Given the description of an element on the screen output the (x, y) to click on. 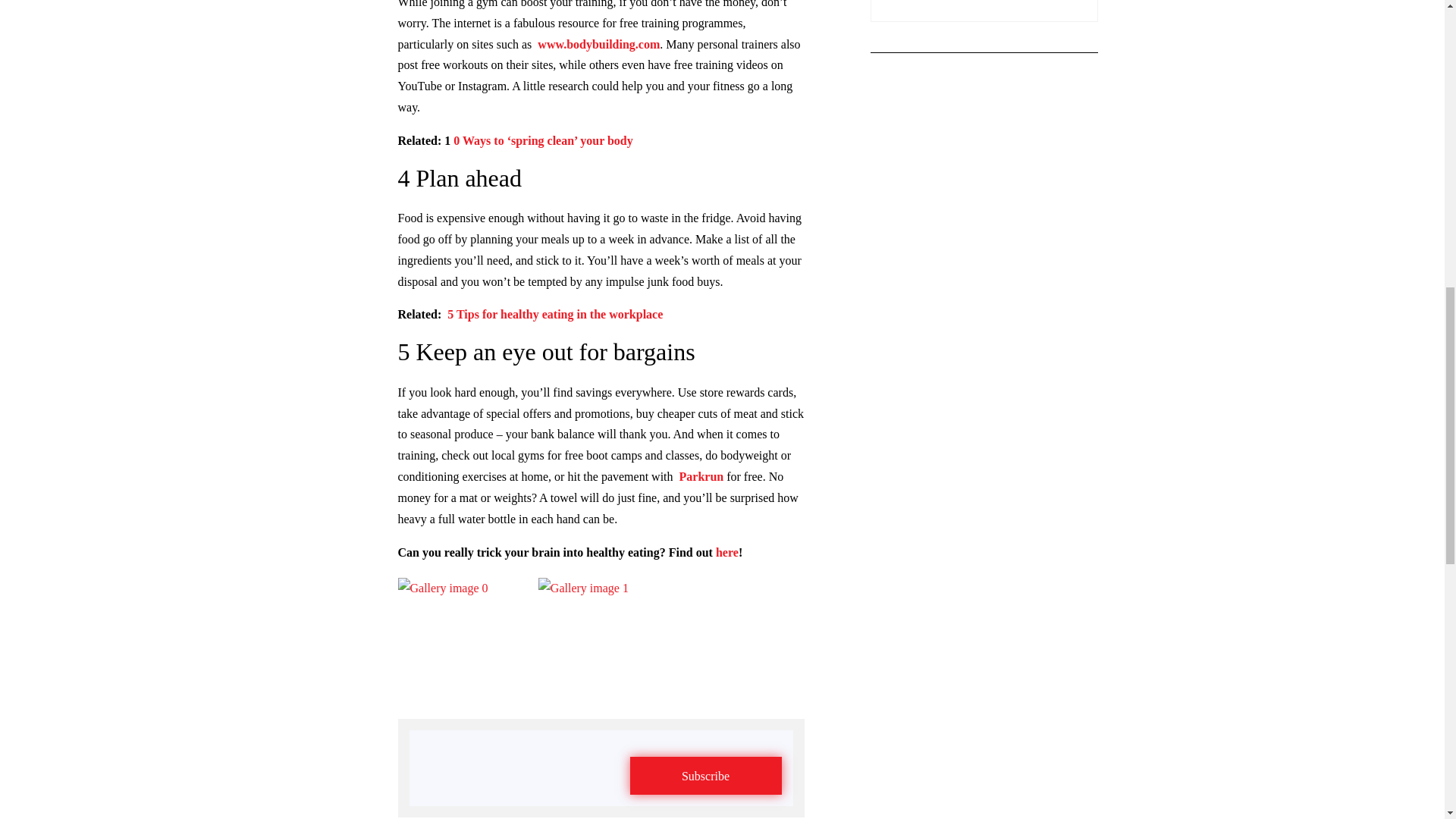
Parkrun (701, 476)
5 Tips for healthy eating in the workplace (554, 314)
Subscribe (704, 775)
here (727, 552)
www.bodybuilding.com (598, 43)
